Given the description of an element on the screen output the (x, y) to click on. 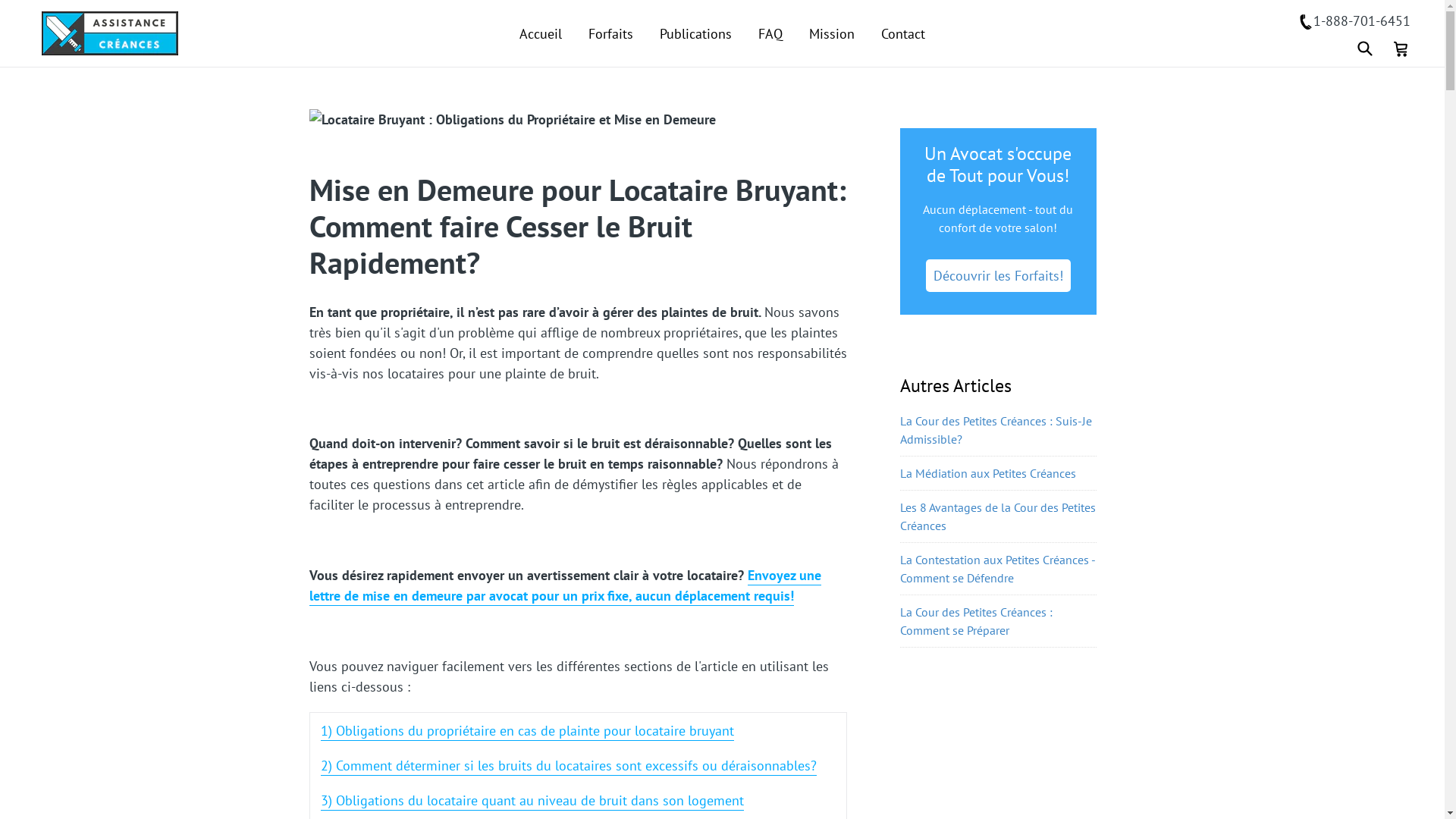
Publications Element type: text (695, 33)
Contact Element type: text (902, 33)
Recherche Element type: text (1363, 47)
Forfaits Element type: text (610, 33)
Mission Element type: text (831, 33)
Panier
Panier Element type: text (1401, 47)
Accueil Element type: text (540, 33)
FAQ Element type: text (769, 33)
